Given the description of an element on the screen output the (x, y) to click on. 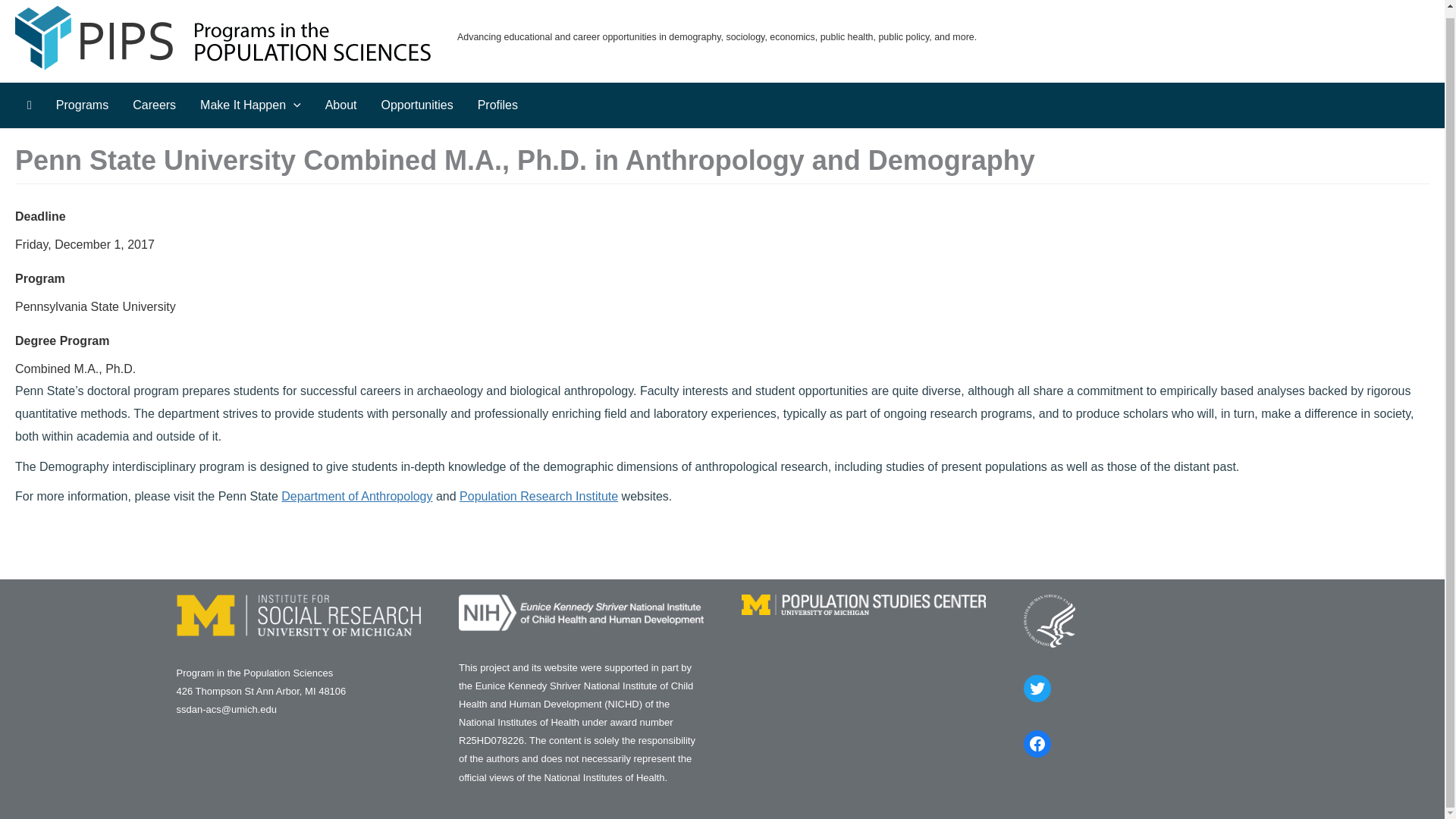
Programs (81, 104)
Facebook (1037, 743)
Population Research Institute (538, 495)
Careers (153, 104)
About (341, 104)
Department of Anthropology (356, 495)
Opportunities (416, 104)
Make It Happen (250, 104)
Twitter (1037, 687)
Profiles (497, 104)
